Given the description of an element on the screen output the (x, y) to click on. 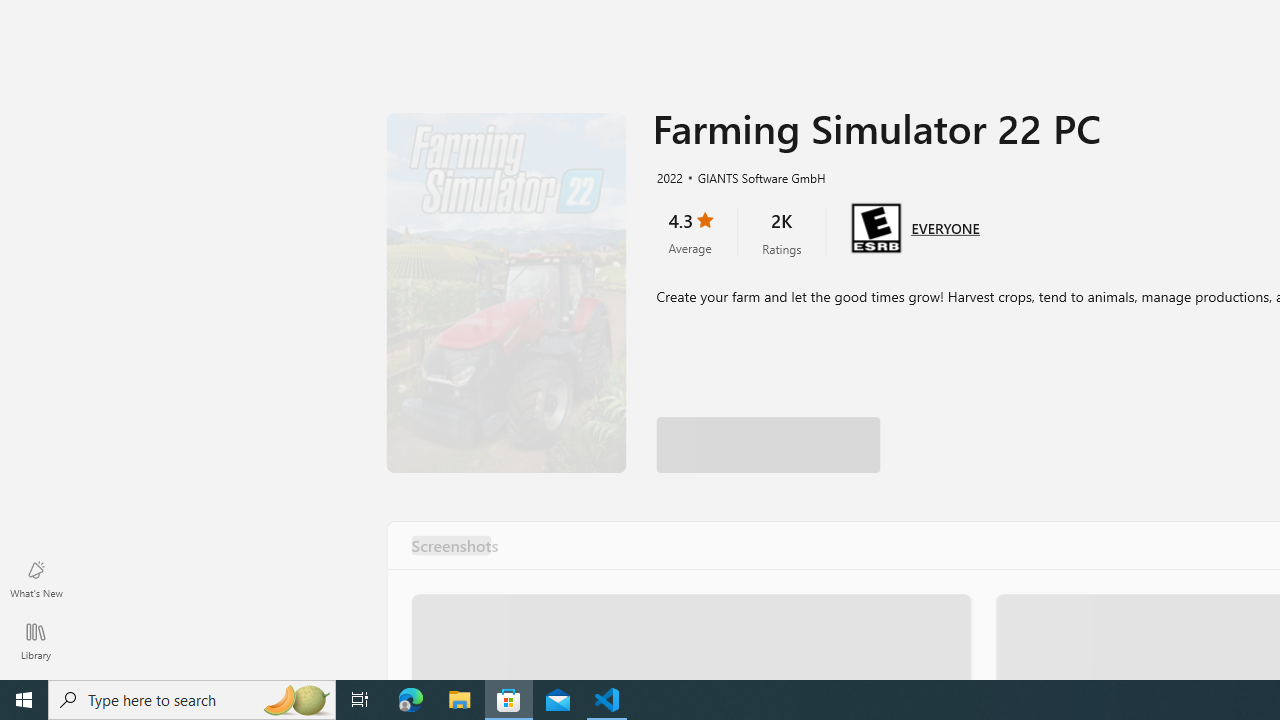
Play with Game Pass (767, 421)
2022 (667, 177)
GIANTS Software GmbH (753, 177)
Farming Simulator 22 PC, Edition selector (791, 352)
Age rating: EVERYONE. Click for more information. (945, 226)
Buy (1000, 421)
Play Trailer (505, 293)
4.3 stars. Click to skip to ratings and reviews (689, 232)
